Given the description of an element on the screen output the (x, y) to click on. 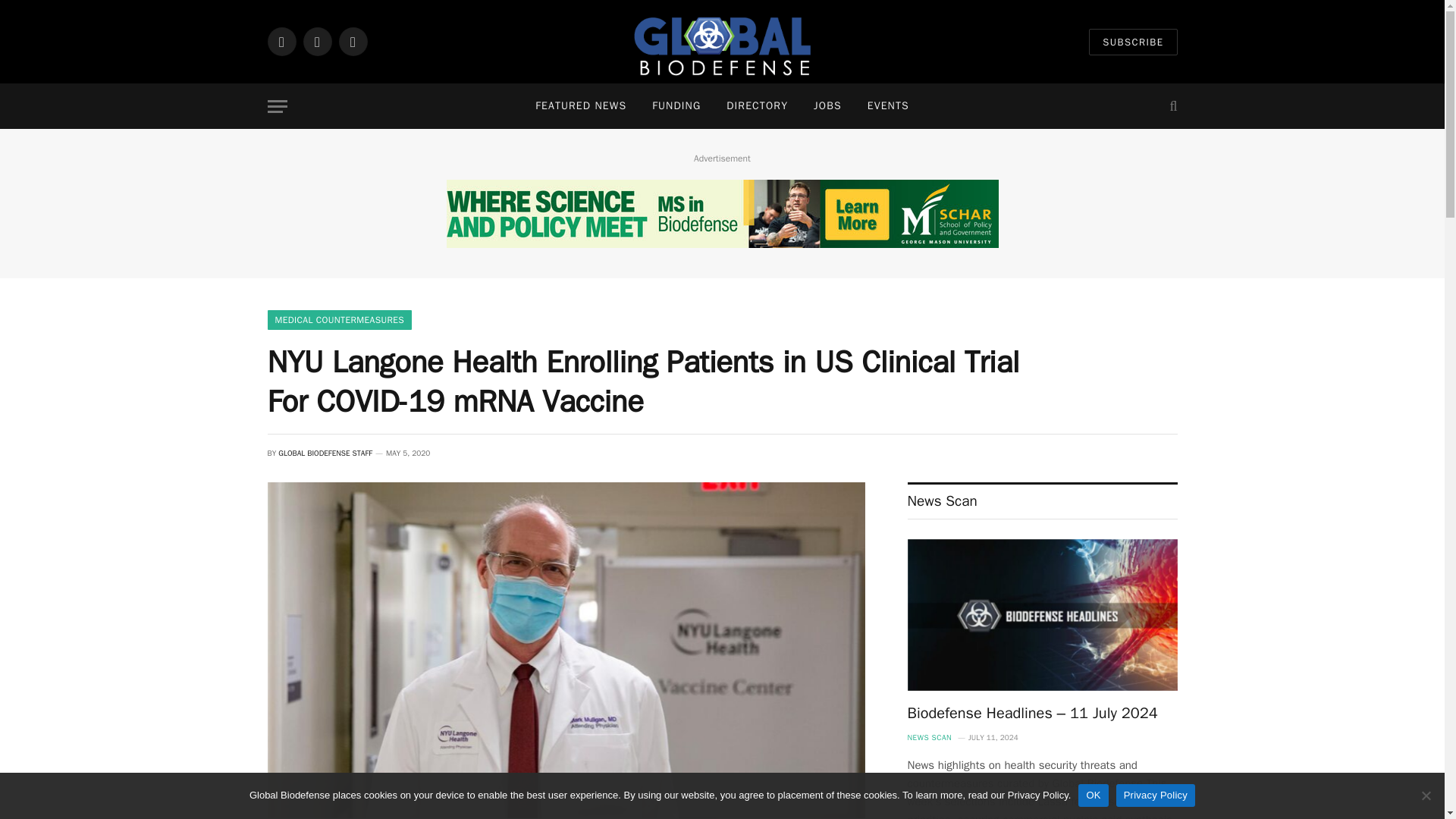
MEDICAL COUNTERMEASURES (339, 320)
DIRECTORY (756, 105)
Instagram (316, 41)
FEATURED NEWS (580, 105)
FUNDING (676, 105)
Facebook (280, 41)
Global Biodefense (721, 41)
EVENTS (887, 105)
Posts by Global Biodefense Staff (325, 452)
JOBS (827, 105)
SUBSCRIBE (1132, 41)
Threads (351, 41)
GLOBAL BIODEFENSE STAFF (325, 452)
Biosecurity and Biodefense Jobs (827, 105)
